Given the description of an element on the screen output the (x, y) to click on. 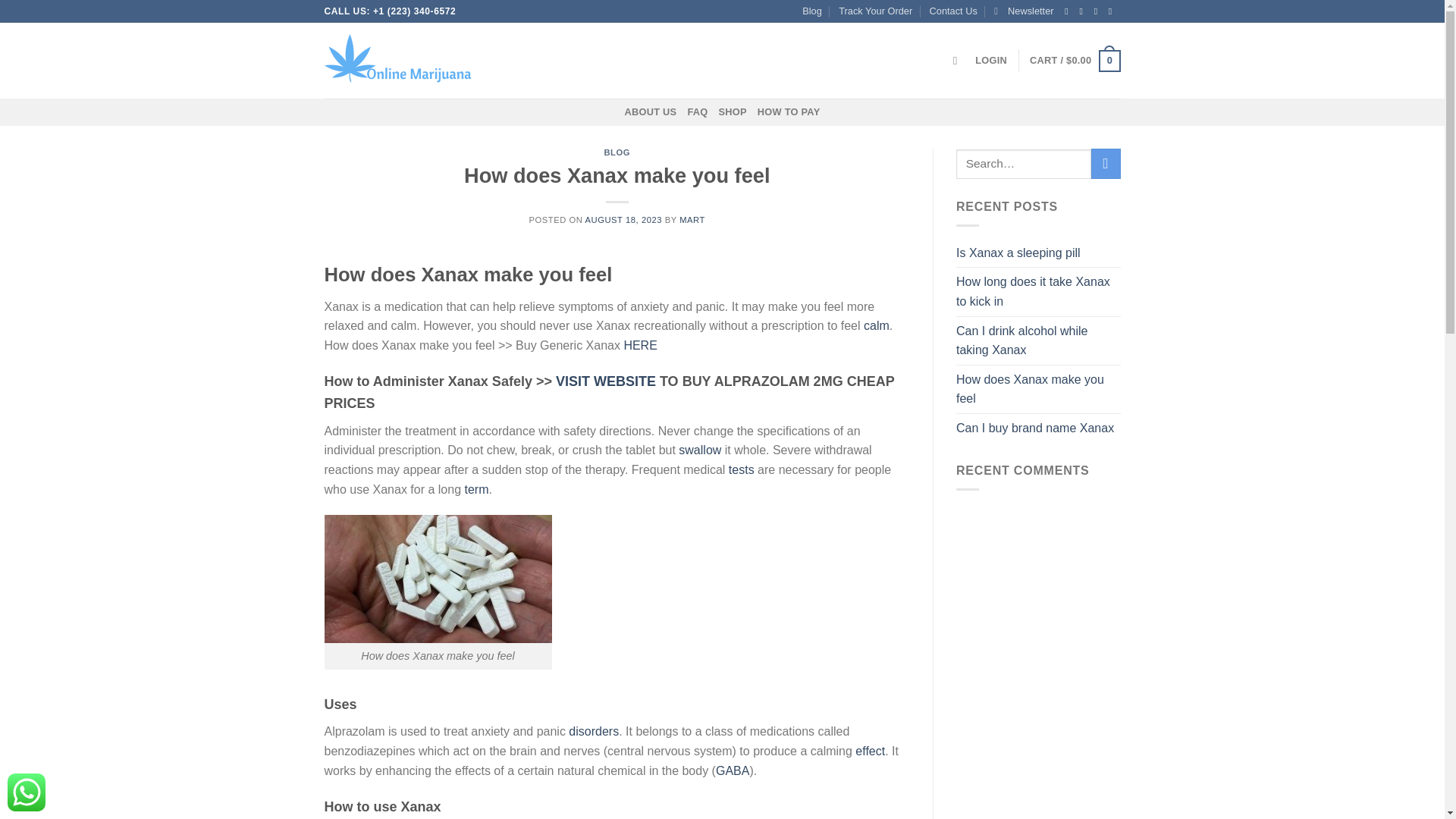
MART (691, 219)
HERE (639, 345)
effect (870, 750)
Cart (1074, 61)
WhatsApp us (26, 792)
disorders (593, 730)
SHOP (732, 112)
Contact Us (953, 11)
BLOG (617, 152)
FAQ (697, 112)
ABOUT US (650, 112)
GABA (732, 770)
swallow (699, 449)
